Given the description of an element on the screen output the (x, y) to click on. 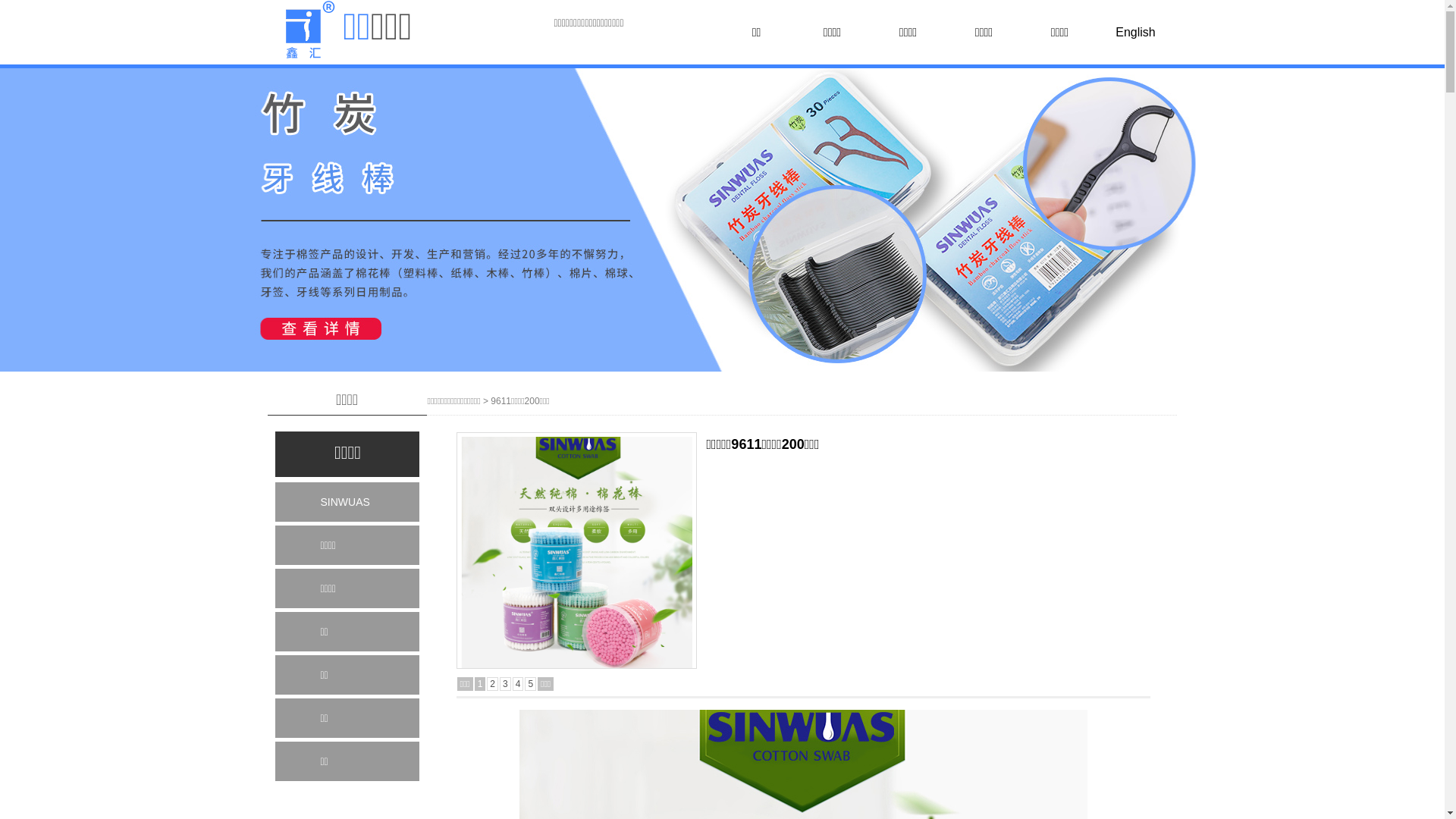
English Element type: text (1135, 32)
SINWUAS Element type: text (347, 501)
